Given the description of an element on the screen output the (x, y) to click on. 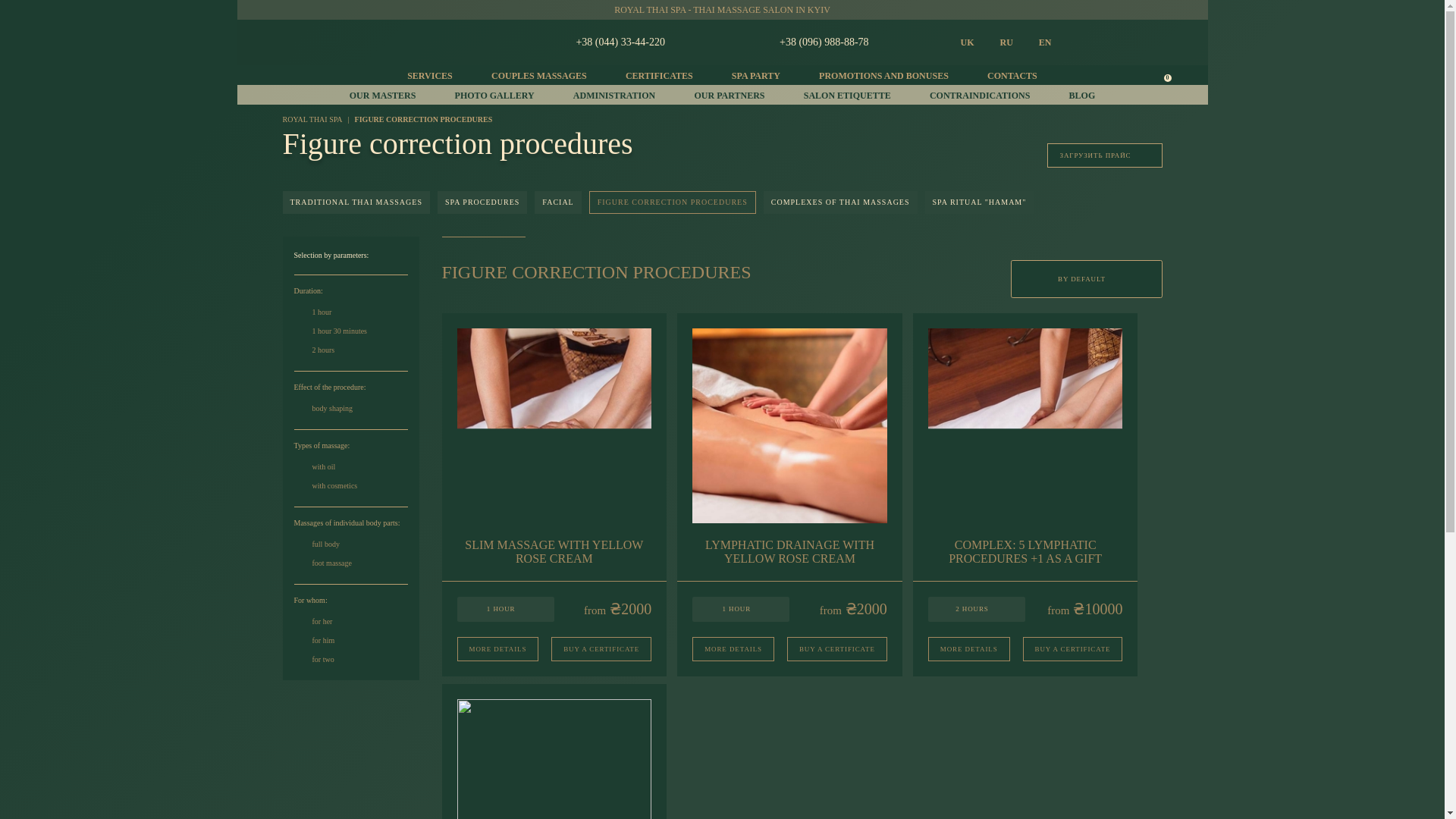
EN (1045, 41)
RU (1004, 41)
UK (966, 41)
